Given the description of an element on the screen output the (x, y) to click on. 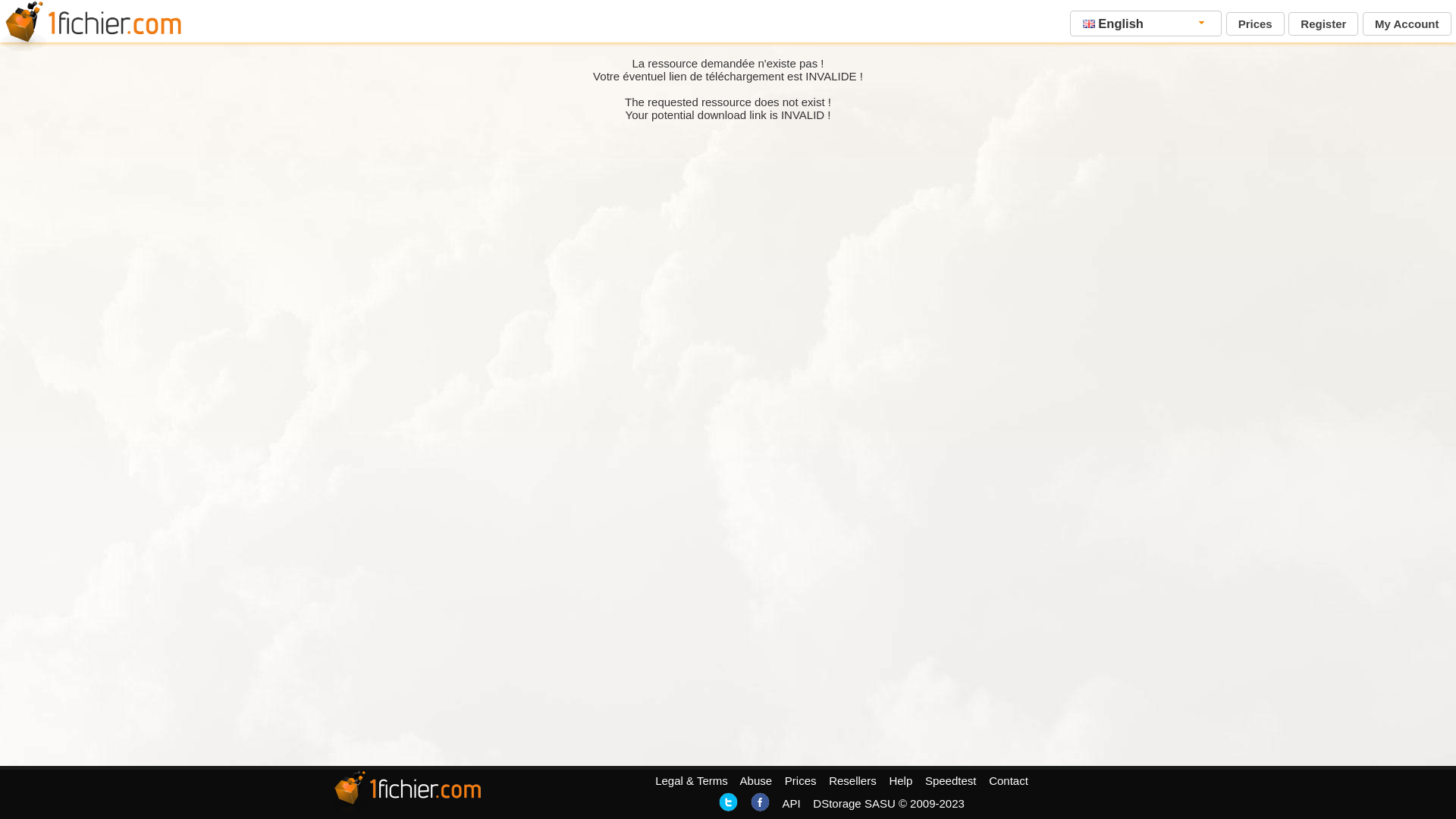
My Account Element type: text (1406, 23)
Legal & Terms Element type: text (691, 780)
Abuse Element type: text (756, 780)
Speedtest Element type: text (950, 780)
Prices Element type: text (1255, 23)
Resellers Element type: text (852, 780)
API Element type: text (790, 803)
Prices Element type: text (800, 780)
Register Element type: text (1323, 23)
Help Element type: text (900, 780)
Contact Element type: text (1008, 780)
